Given the description of an element on the screen output the (x, y) to click on. 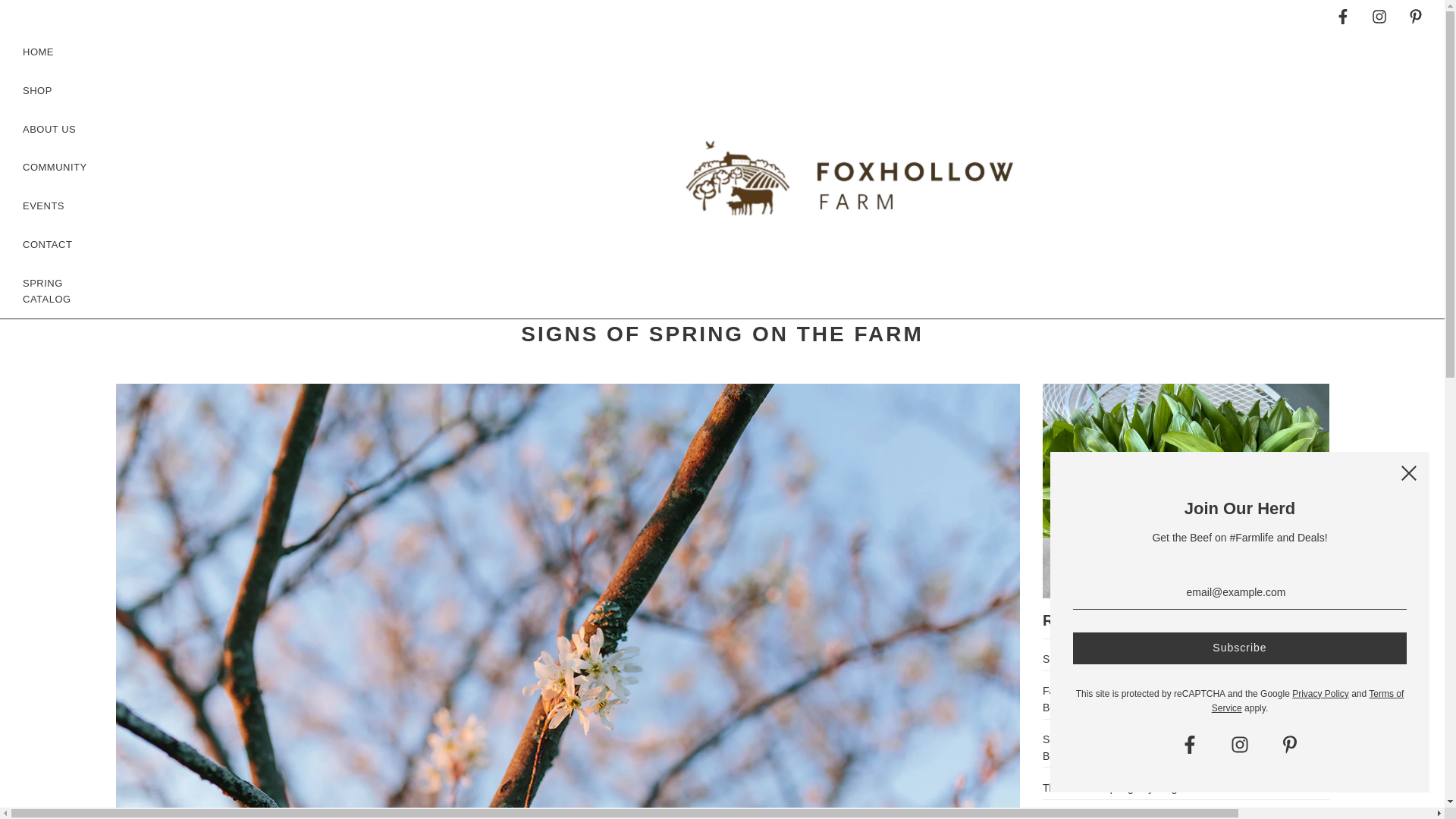
Subscribe (1239, 648)
